Given the description of an element on the screen output the (x, y) to click on. 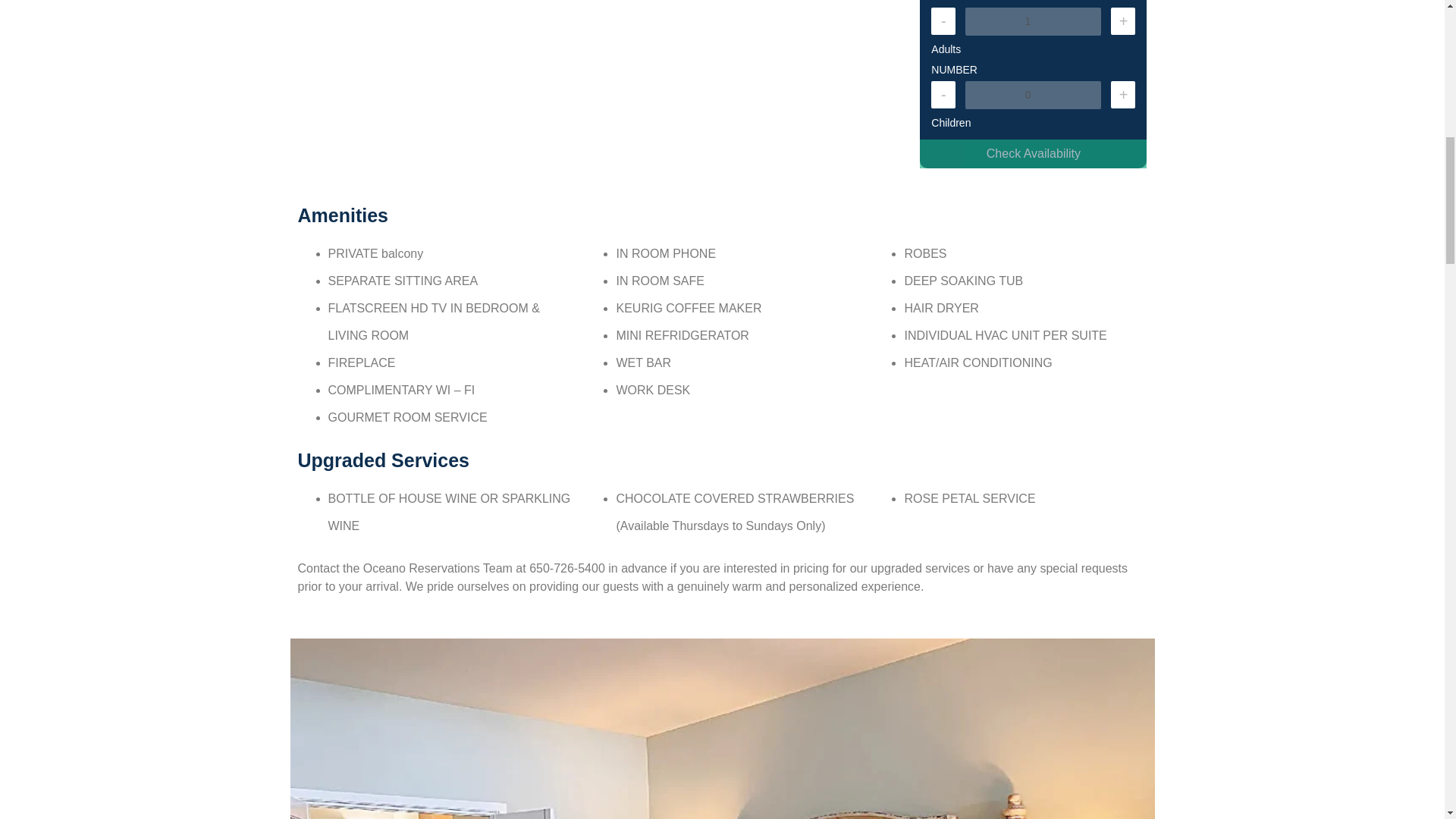
1 (1032, 21)
Check Availability (1033, 153)
Check Availability (1033, 153)
0 (1032, 94)
- (943, 21)
